Given the description of an element on the screen output the (x, y) to click on. 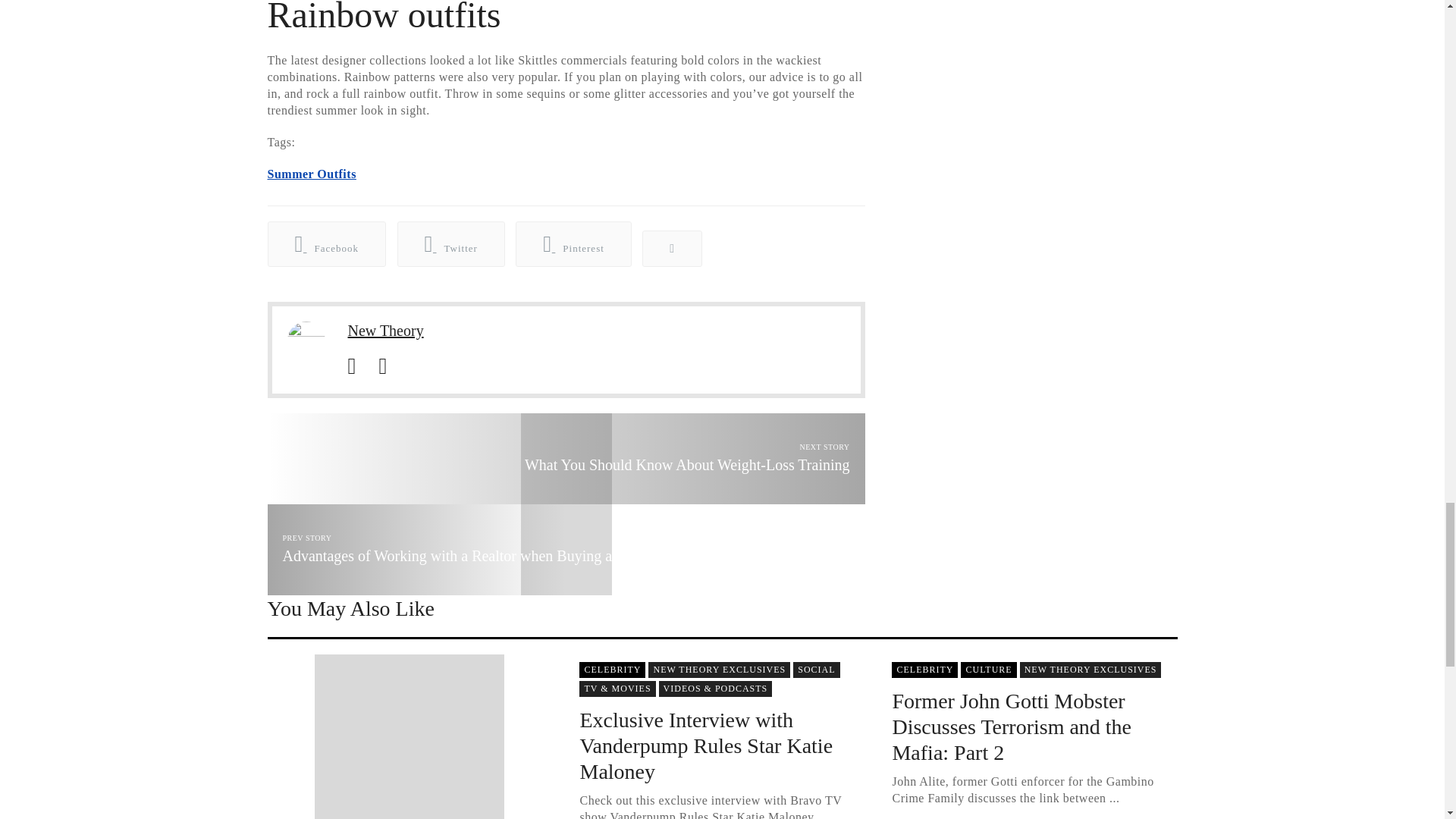
View all posts in 145 (816, 669)
View all posts in 931 (617, 688)
View all posts in 923 (718, 669)
View all posts in 186 (612, 669)
